Given the description of an element on the screen output the (x, y) to click on. 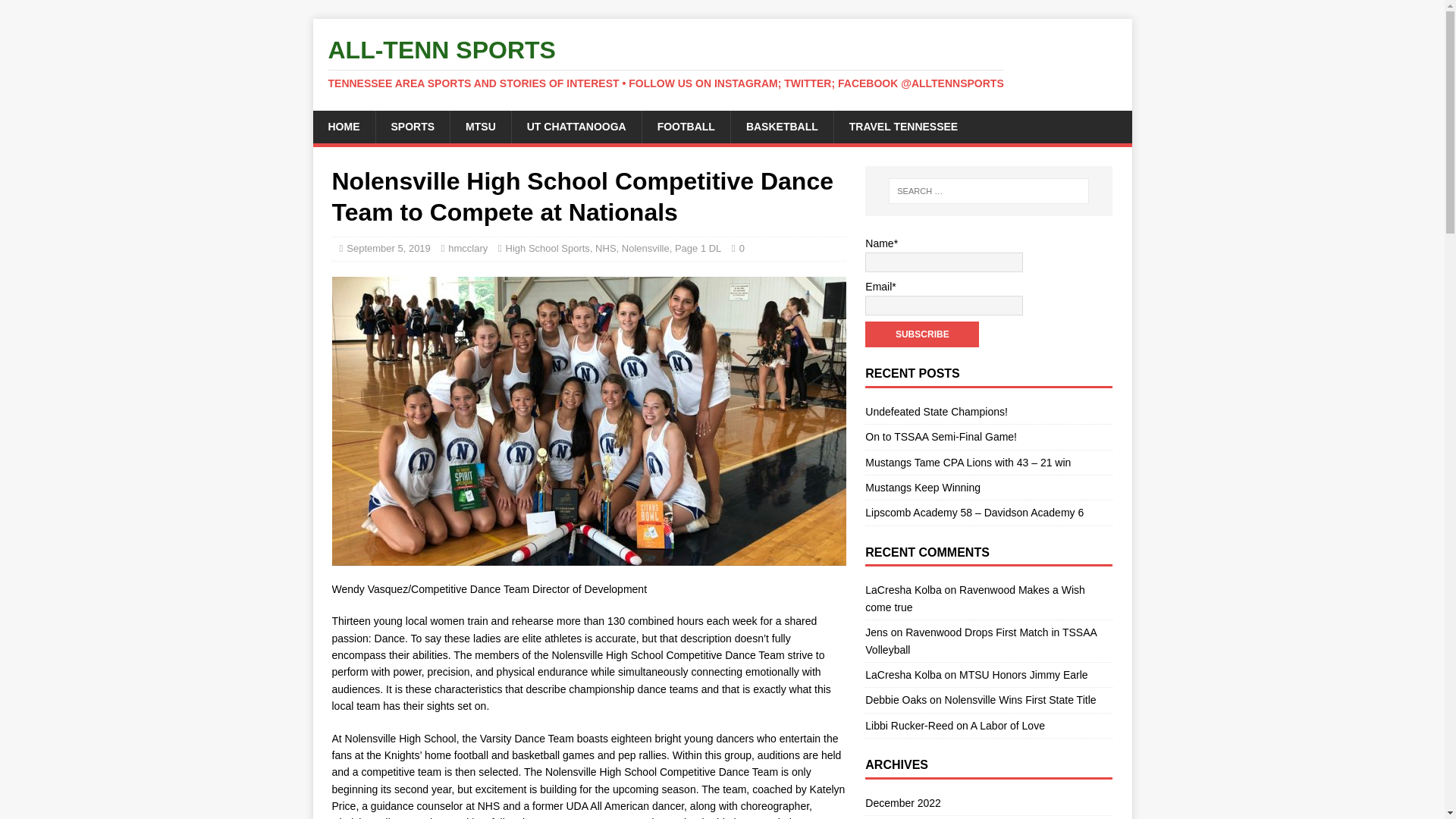
BASKETBALL (781, 126)
SPORTS (411, 126)
NHS (605, 247)
MTSU Honors Jimmy Earle (1023, 674)
Mustangs Keep Winning (921, 487)
FOOTBALL (686, 126)
Ravenwood Makes a Wish come true (974, 597)
Nolensville Wins First State Title (1020, 699)
TRAVEL TENNESSEE (902, 126)
